Given the description of an element on the screen output the (x, y) to click on. 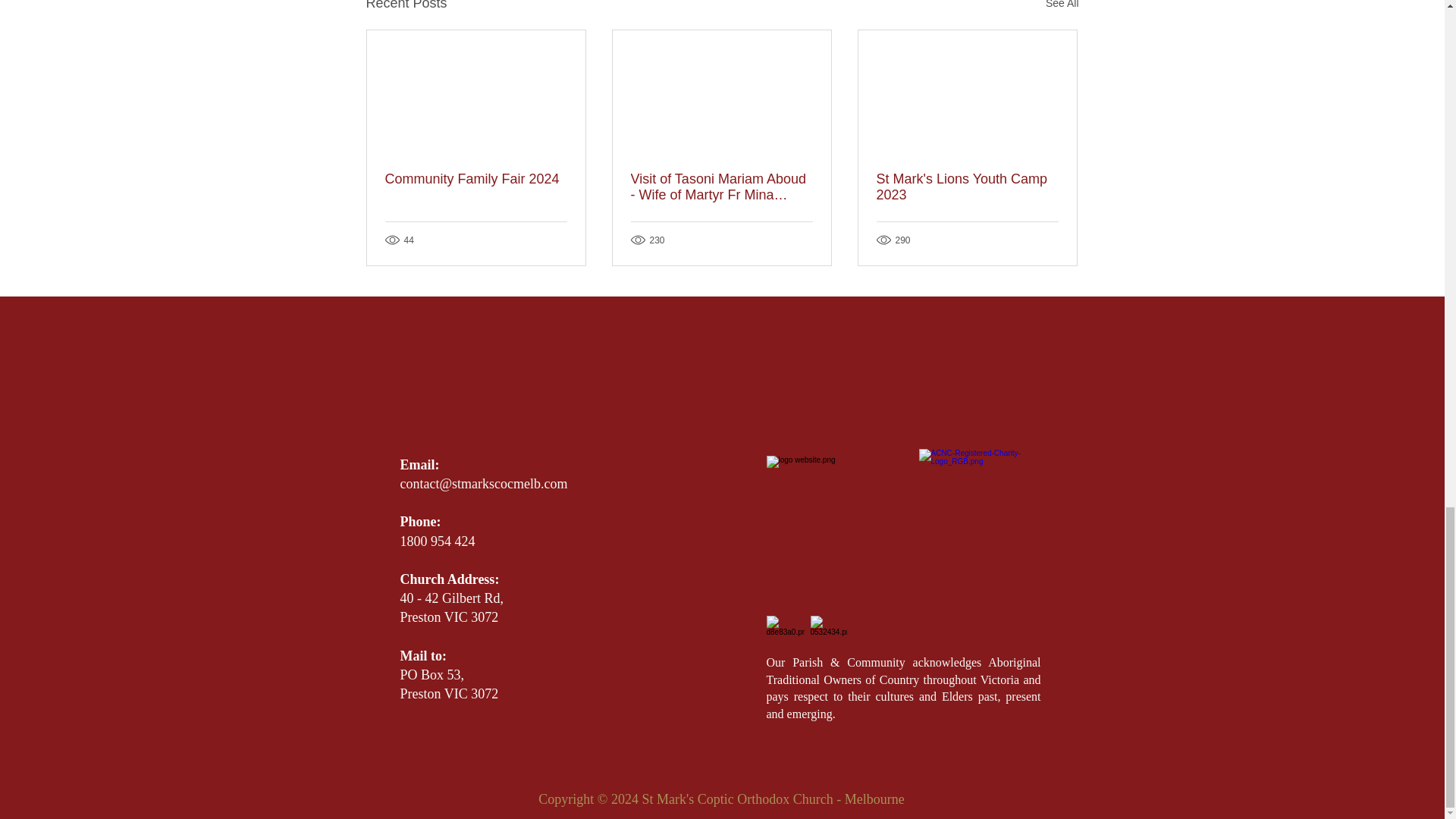
Visit of Tasoni Mariam Aboud - Wife of Martyr Fr Mina Aboud (721, 187)
St Mark's Lions Youth Camp 2023 (967, 187)
Community Family Fair 2024 (476, 179)
1800 954 424 (438, 540)
See All (1061, 7)
